Given the description of an element on the screen output the (x, y) to click on. 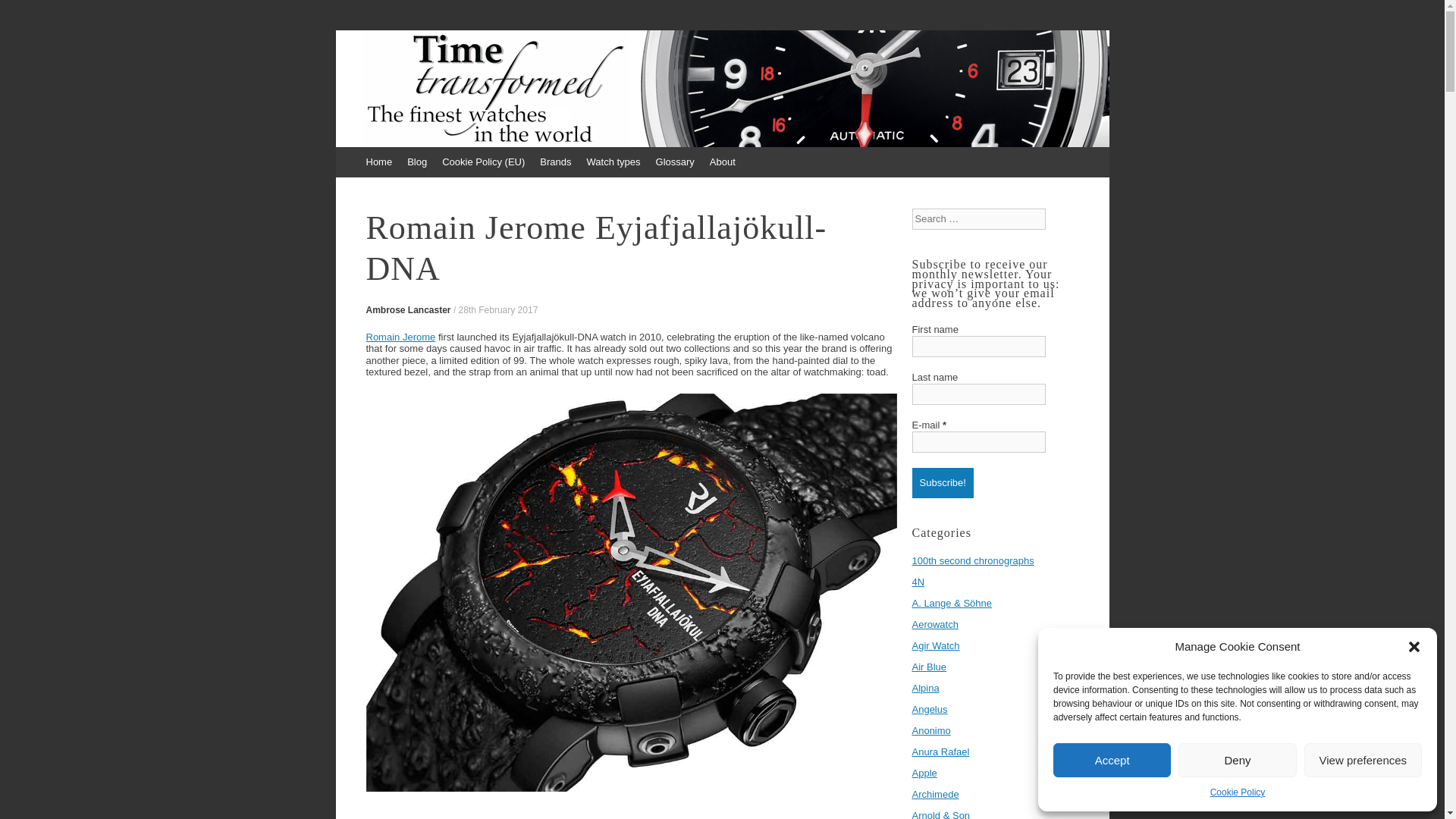
Glossary (674, 162)
Time Transformed (467, 80)
View preferences (1363, 759)
Time Transformed (467, 80)
Cookie Policy (1237, 792)
E-mail (978, 441)
Last name (978, 394)
Watch types (613, 162)
Brands (555, 162)
Home (378, 162)
